Given the description of an element on the screen output the (x, y) to click on. 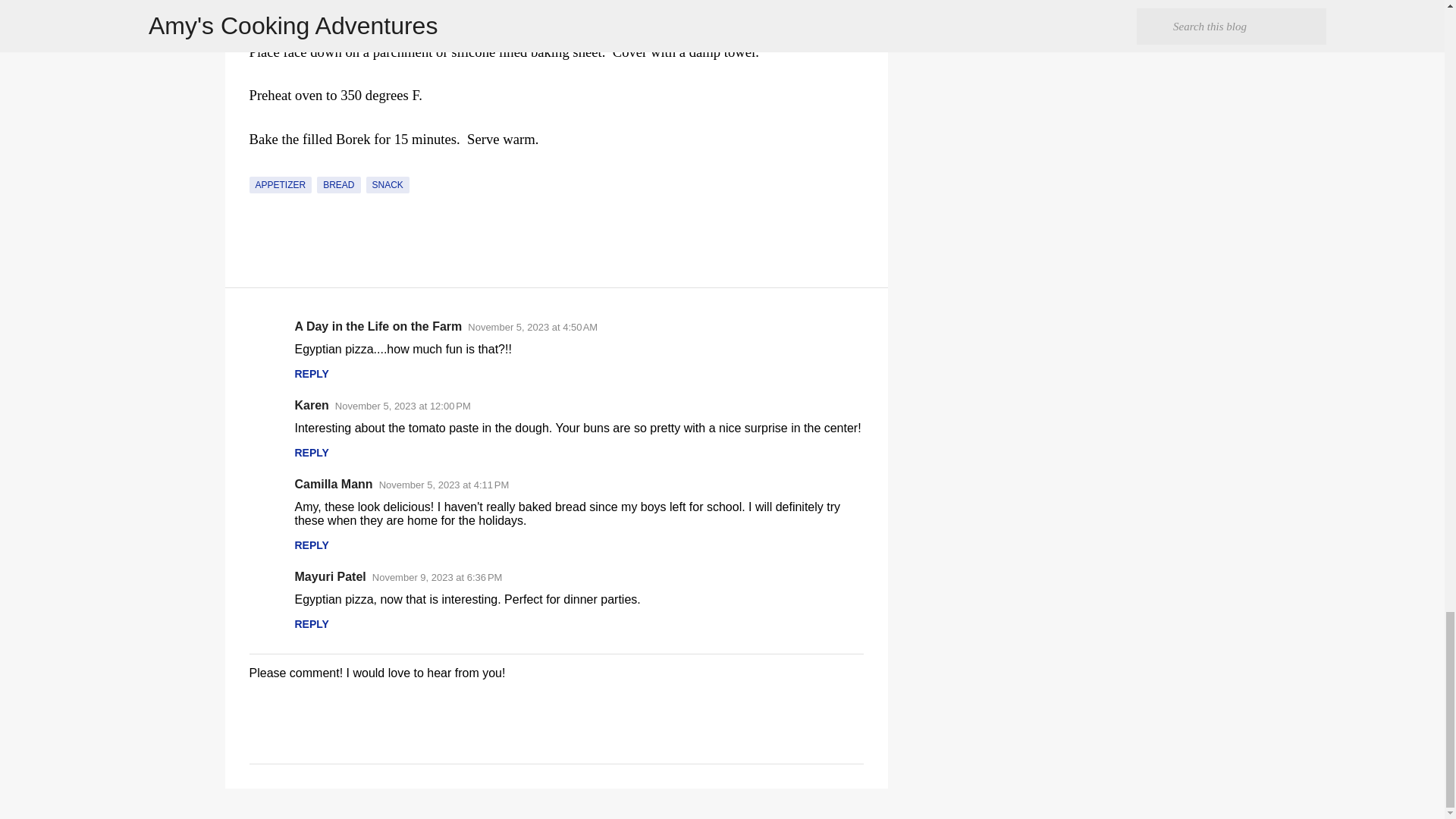
SNACK (387, 184)
A Day in the Life on the Farm (377, 326)
BREAD (338, 184)
REPLY (311, 452)
REPLY (311, 373)
APPETIZER (279, 184)
Karen (311, 404)
